Given the description of an element on the screen output the (x, y) to click on. 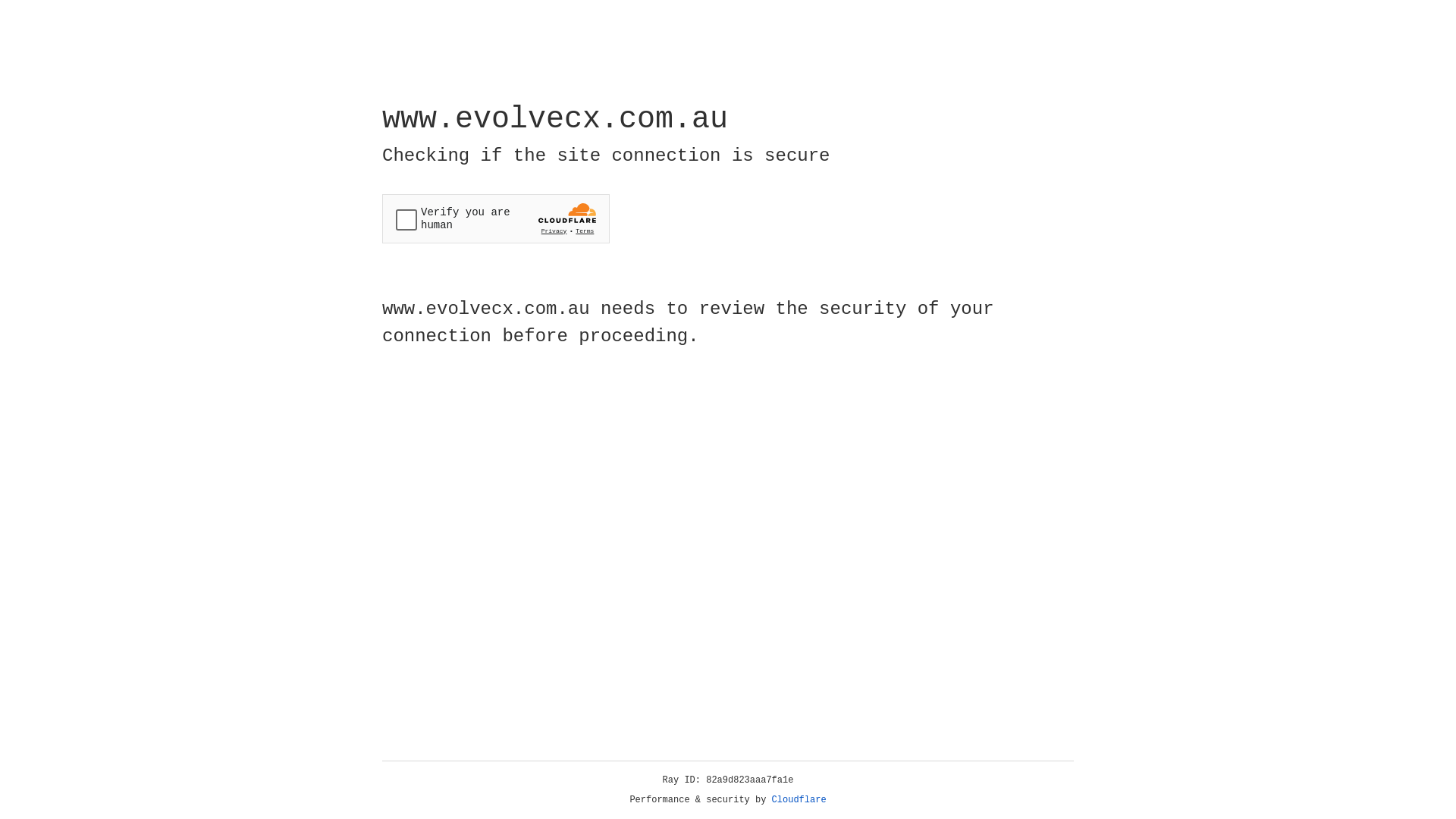
Widget containing a Cloudflare security challenge Element type: hover (495, 218)
Cloudflare Element type: text (798, 799)
